Given the description of an element on the screen output the (x, y) to click on. 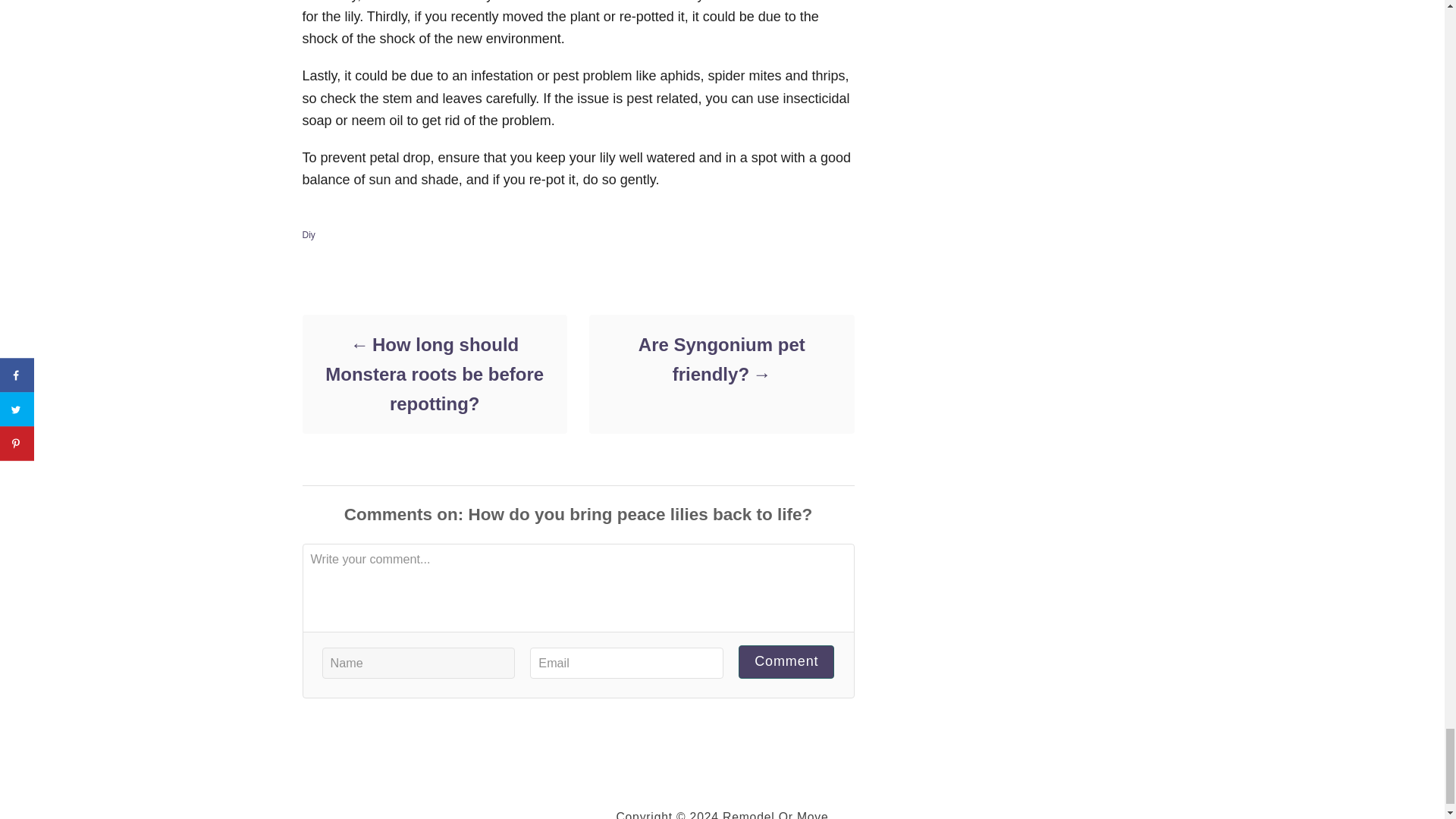
Comment (786, 661)
Are Syngonium pet friendly? (721, 359)
Diy (307, 235)
How long should Monstera roots be before repotting? (434, 374)
